Given the description of an element on the screen output the (x, y) to click on. 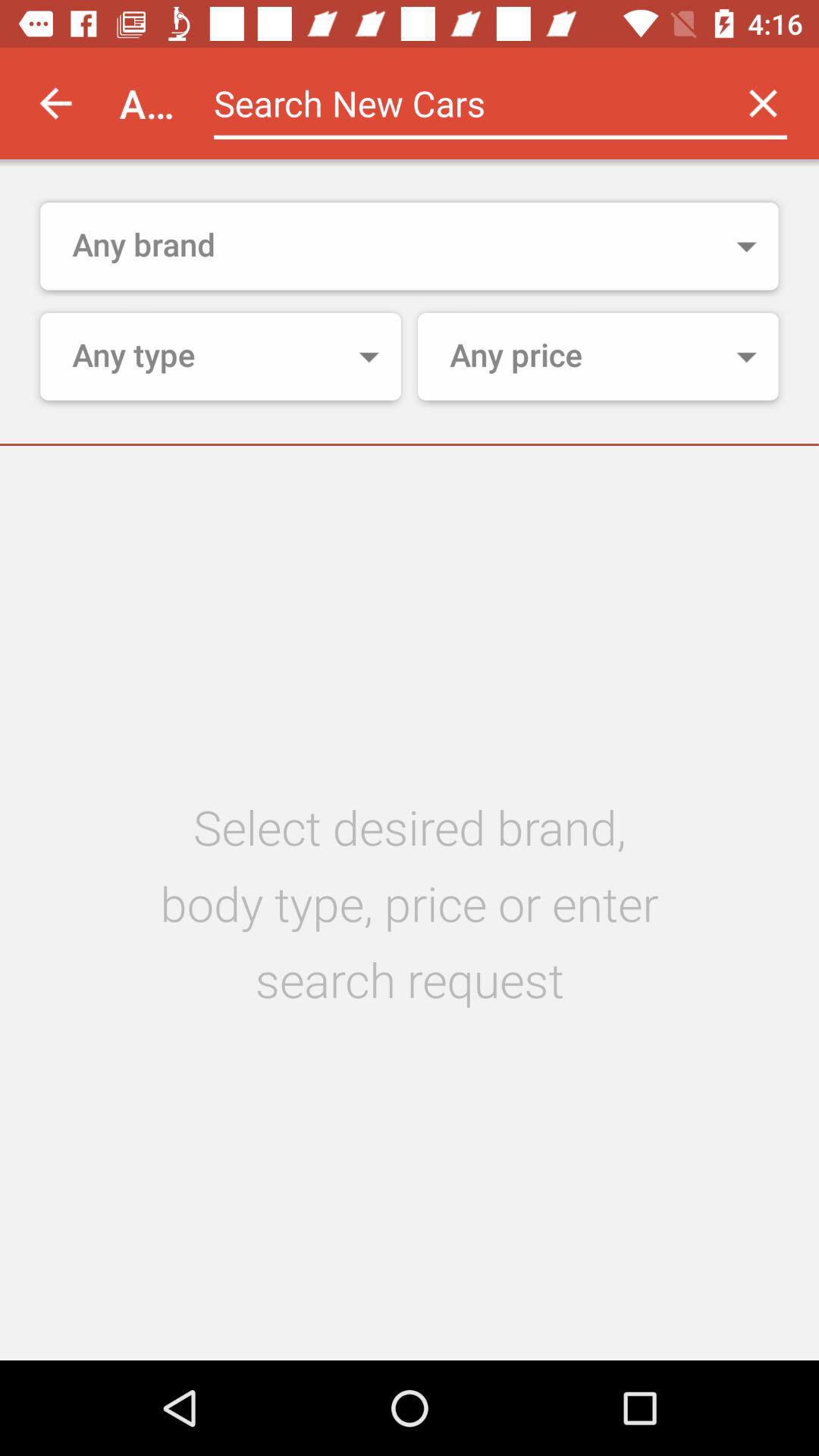
search new cars (460, 103)
